Given the description of an element on the screen output the (x, y) to click on. 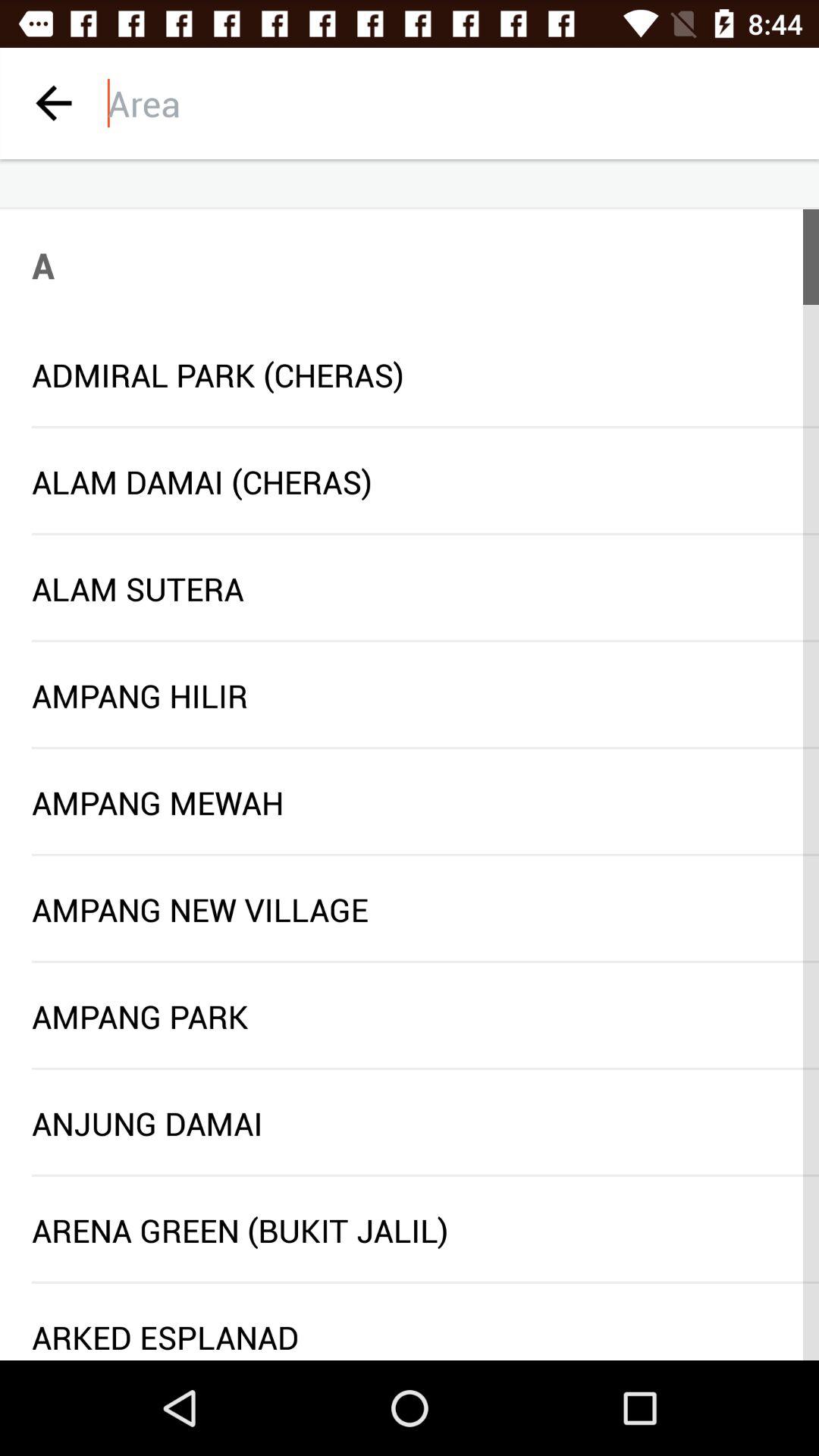
open icon above ampang mewah item (425, 747)
